Given the description of an element on the screen output the (x, y) to click on. 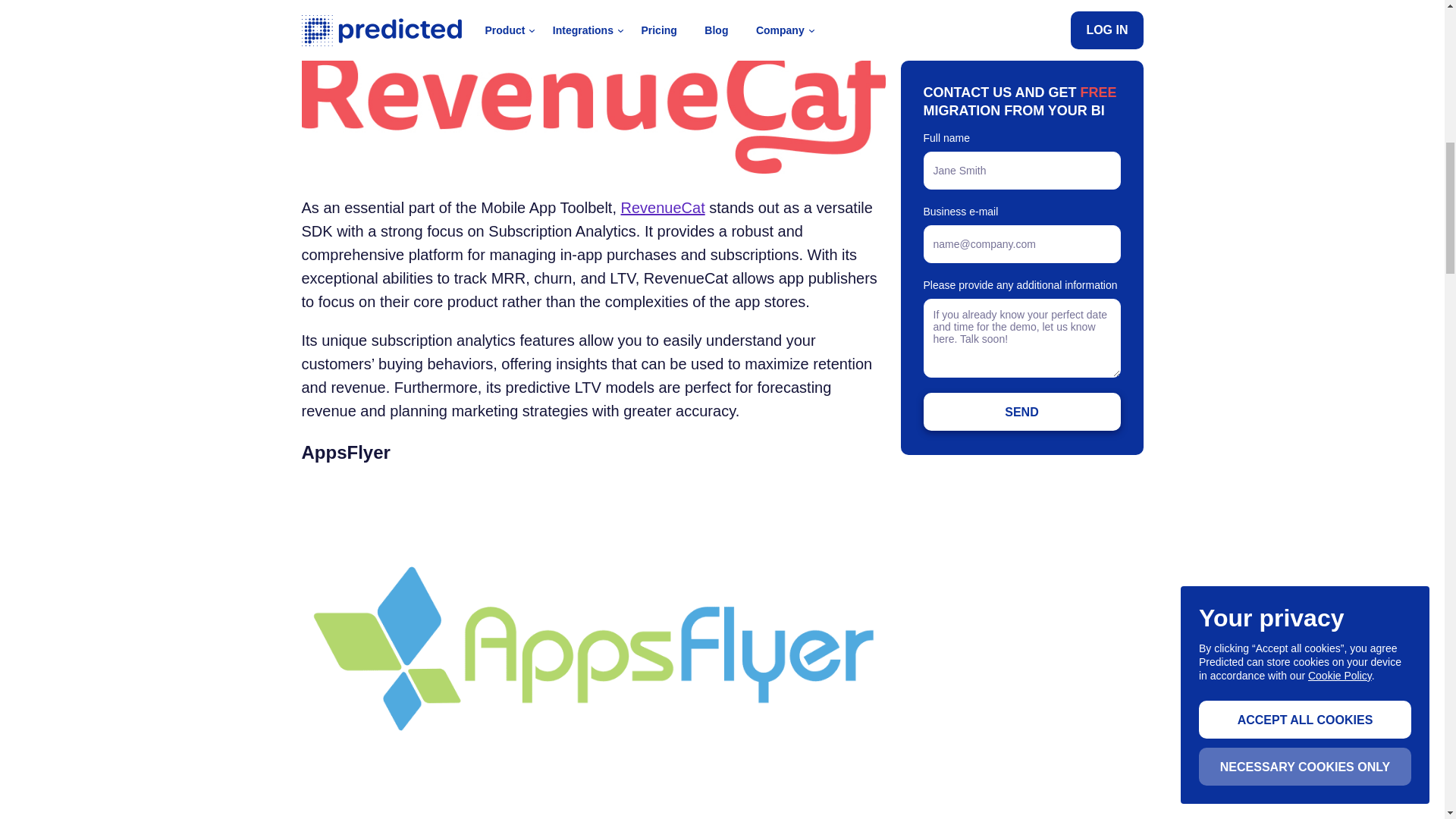
RevenueCat (662, 207)
